Given the description of an element on the screen output the (x, y) to click on. 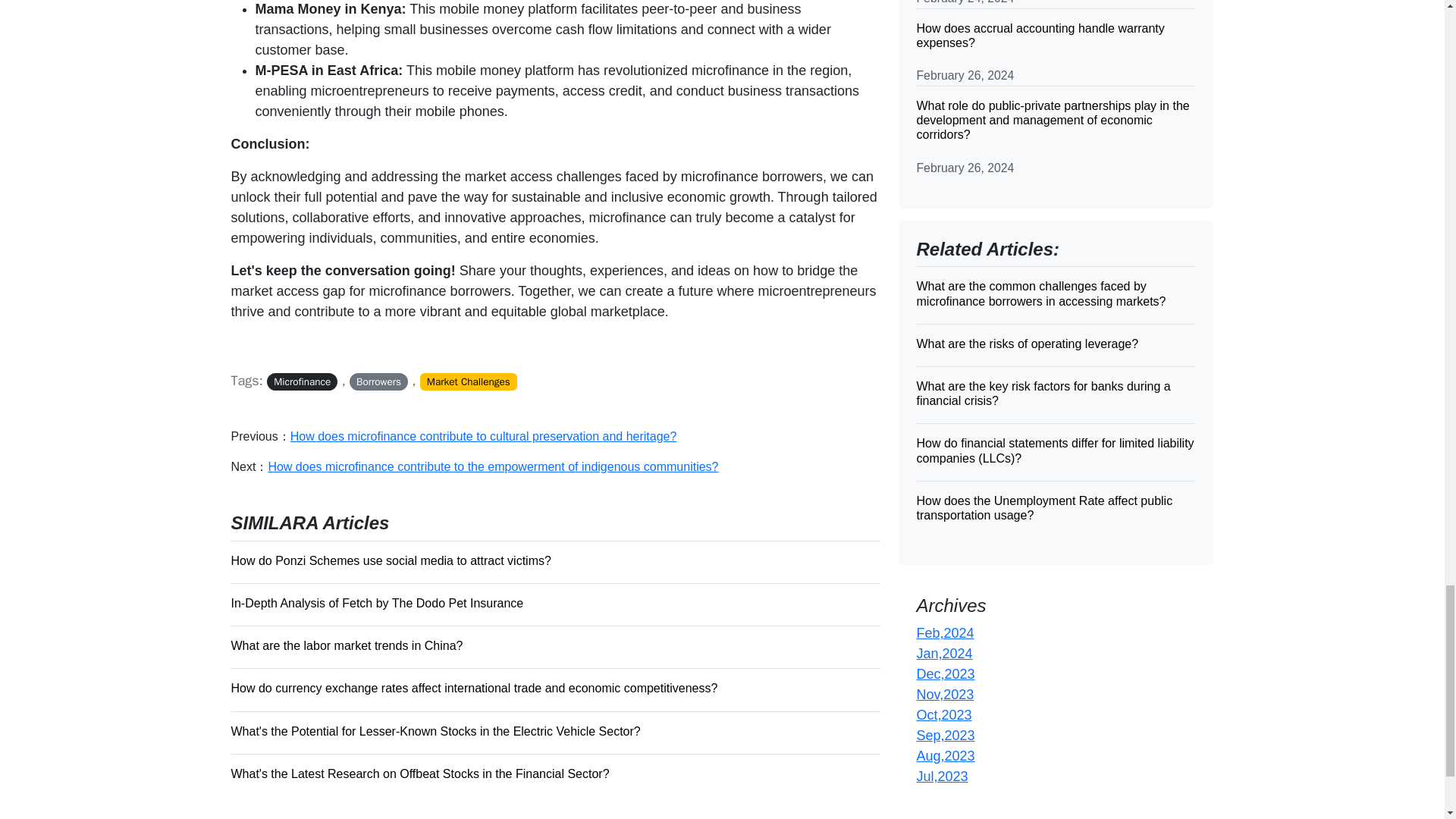
What are the labor market trends in China? (554, 645)
How do Ponzi Schemes use social media to attract victims? (554, 559)
In-Depth Analysis of Fetch by The Dodo Pet Insurance (554, 602)
Market Challenges (468, 381)
Microfinance (301, 381)
Borrowers (378, 381)
